Given the description of an element on the screen output the (x, y) to click on. 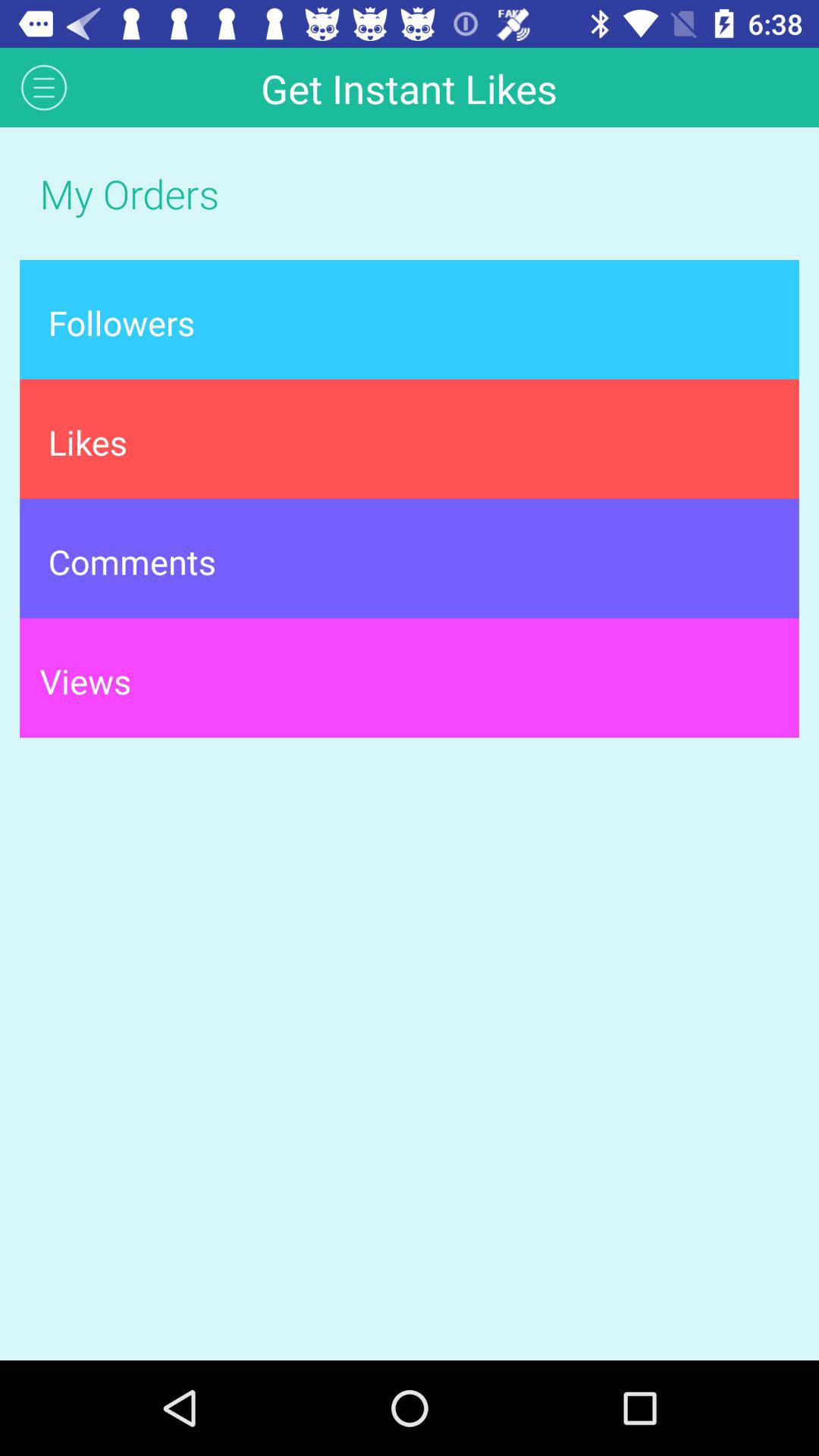
swipe until the  comments item (409, 558)
